Given the description of an element on the screen output the (x, y) to click on. 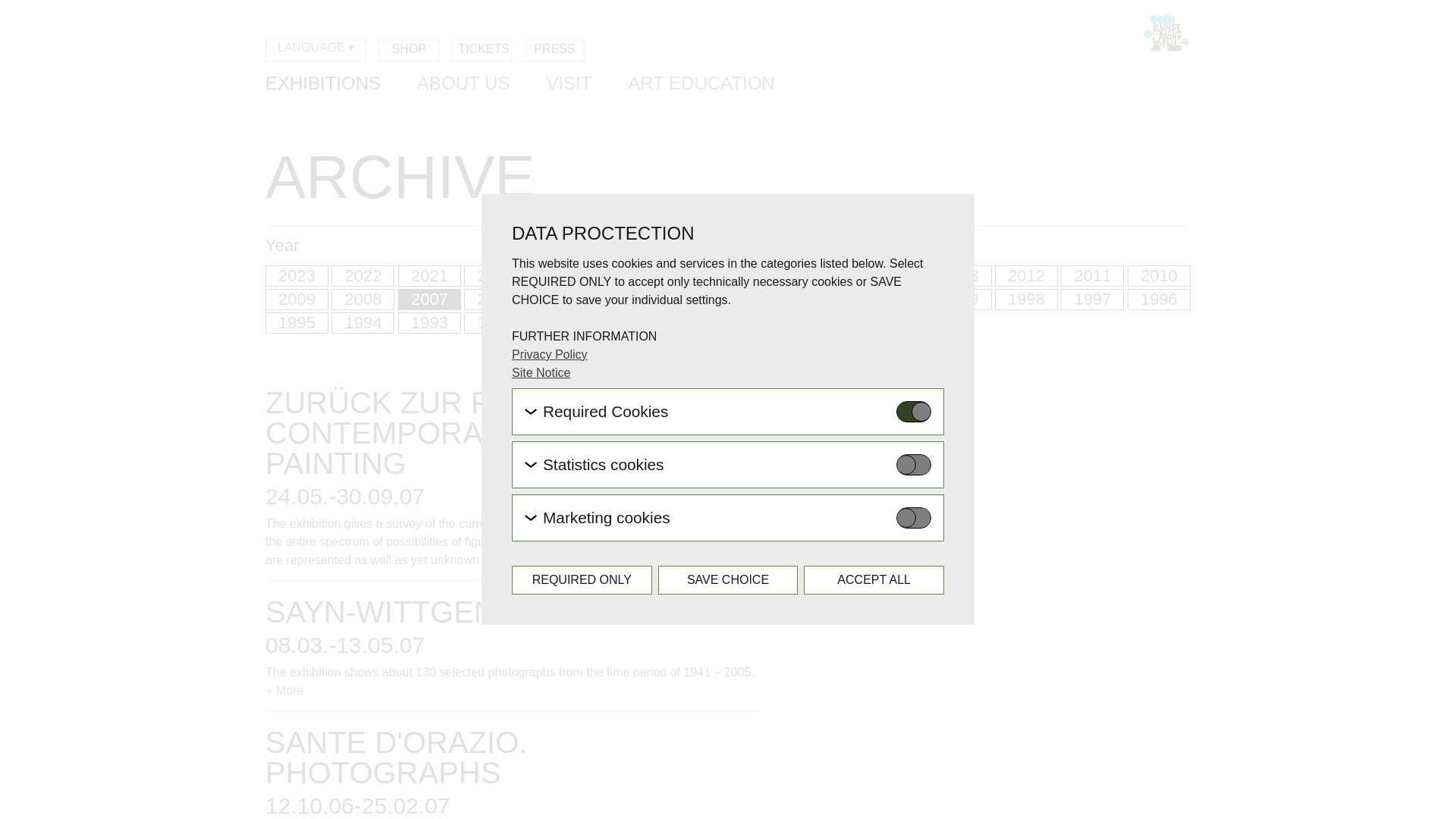
SHOP (408, 50)
VISIT (568, 84)
ABOUT US (462, 84)
2023 (296, 275)
EXHIBITIONS (322, 84)
TICKETS (481, 50)
PRESS (554, 50)
2022 (362, 275)
ART EDUCATION (700, 84)
2020 (495, 275)
